Given the description of an element on the screen output the (x, y) to click on. 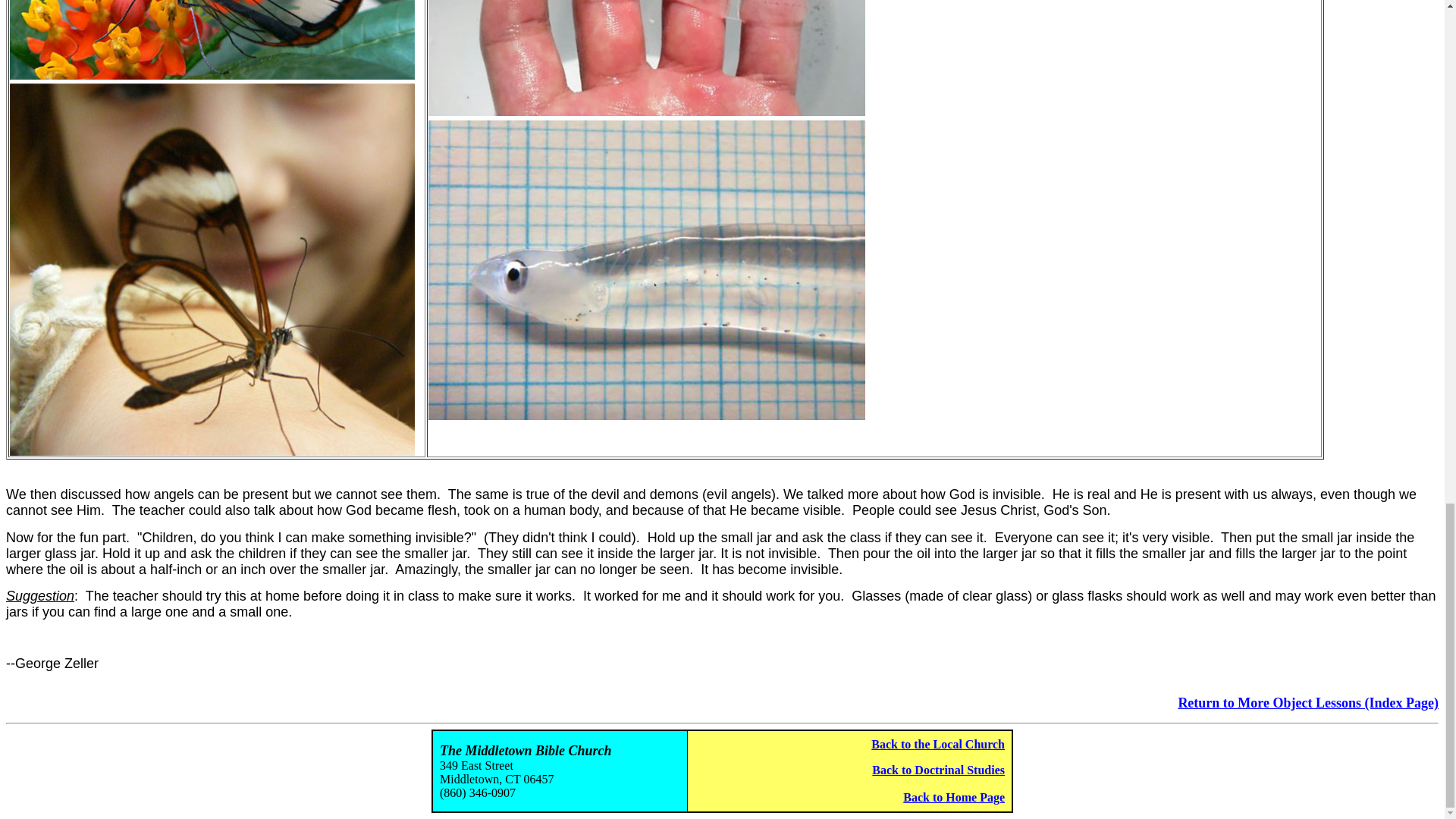
Back to the Local Church (937, 744)
Back to Home Page (953, 797)
Back to Doctrinal Studies (938, 769)
